Given the description of an element on the screen output the (x, y) to click on. 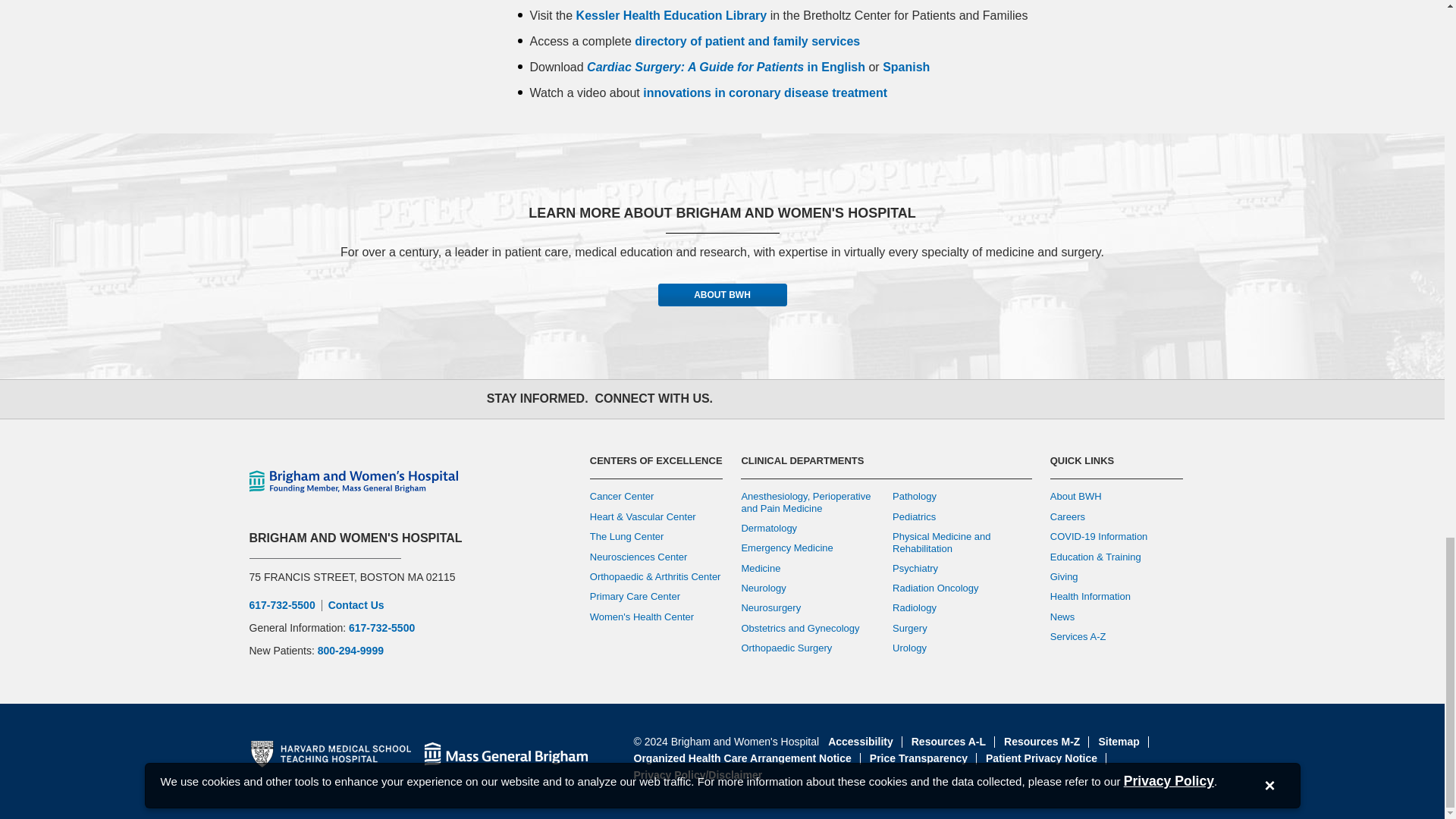
YouTube (838, 398)
LinkedIn (871, 398)
Newsroom (905, 398)
Facebook (738, 398)
Instagram (804, 398)
